Given the description of an element on the screen output the (x, y) to click on. 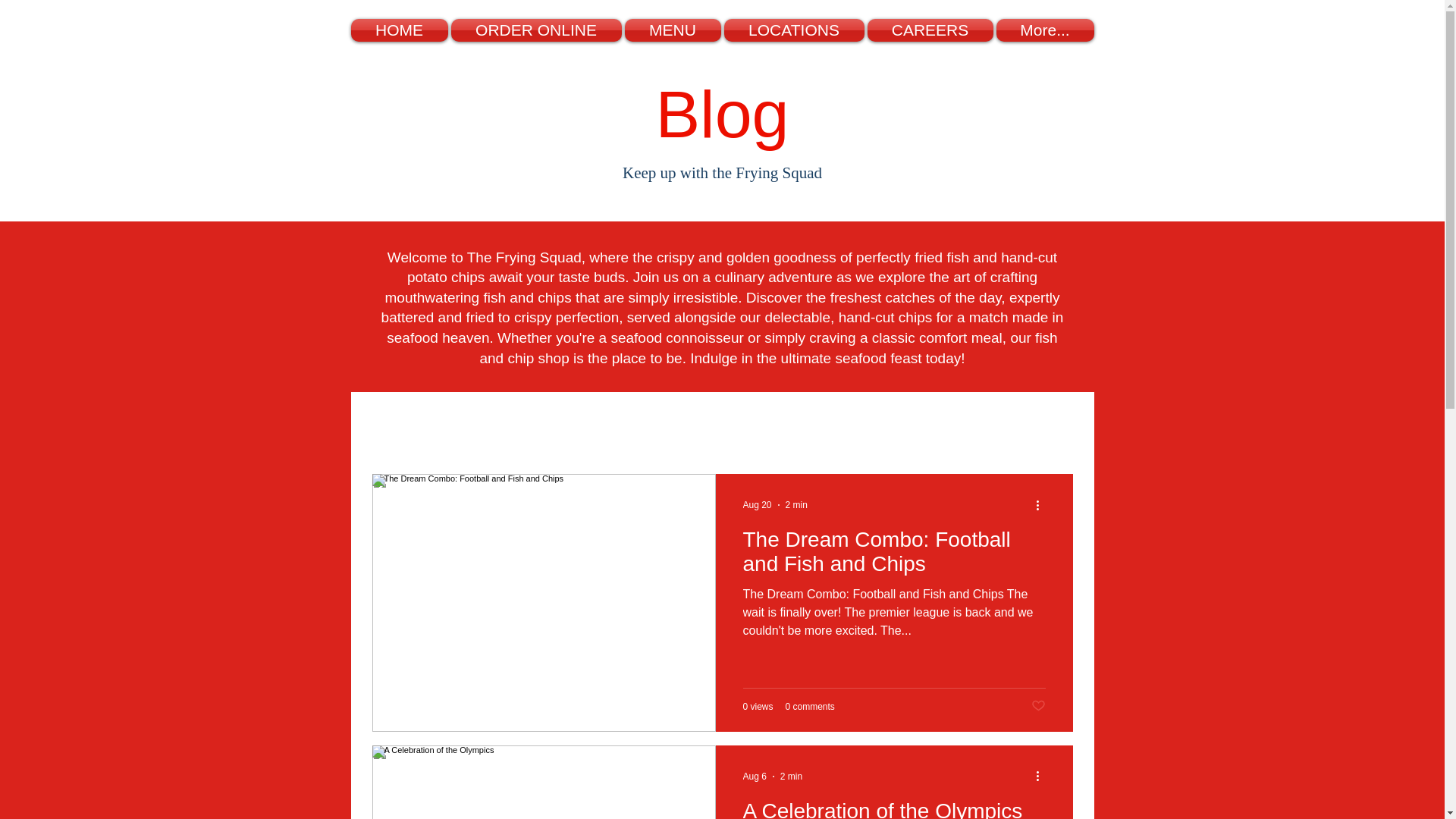
2 min (791, 776)
CAREERS (930, 29)
ORDER ONLINE (535, 29)
0 comments (810, 706)
The Dream Combo: Football and Fish and Chips (893, 556)
2 min (797, 504)
Aug 20 (756, 504)
LOCATIONS (793, 29)
A Celebration of the Olympics (893, 808)
Post not marked as liked (1037, 706)
